Given the description of an element on the screen output the (x, y) to click on. 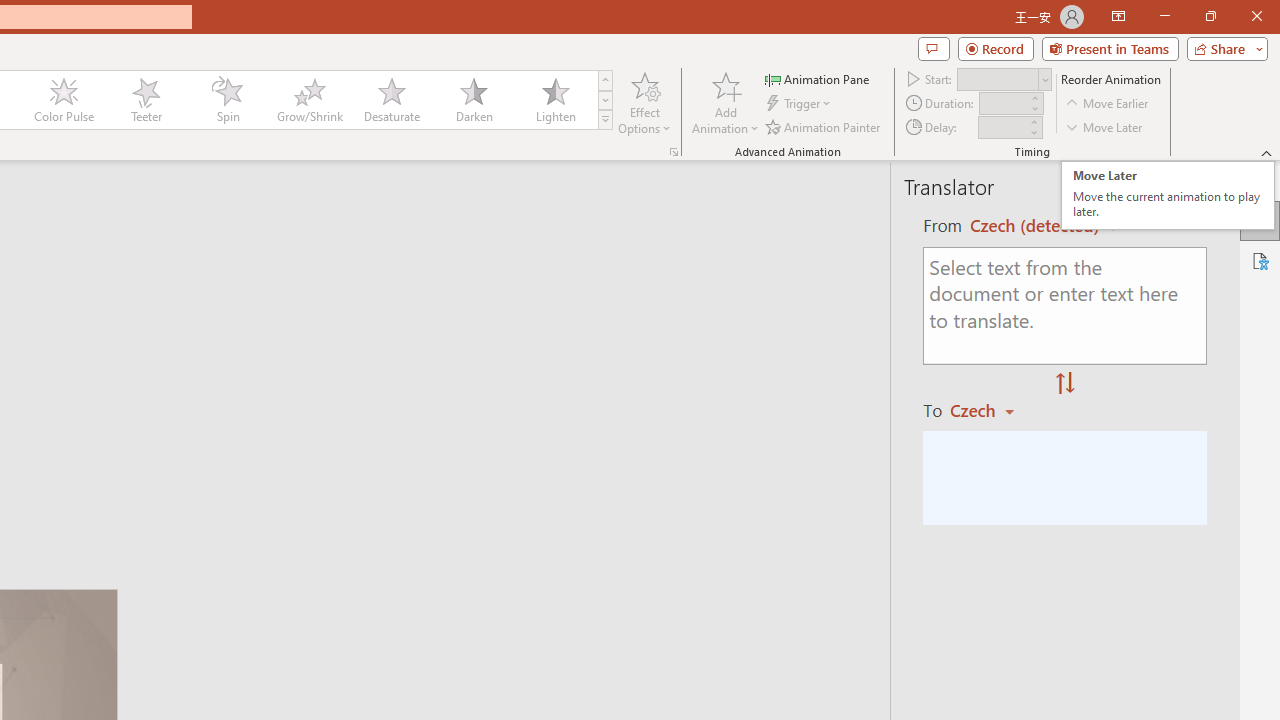
Animation Delay (1002, 127)
Trigger (799, 103)
